Given the description of an element on the screen output the (x, y) to click on. 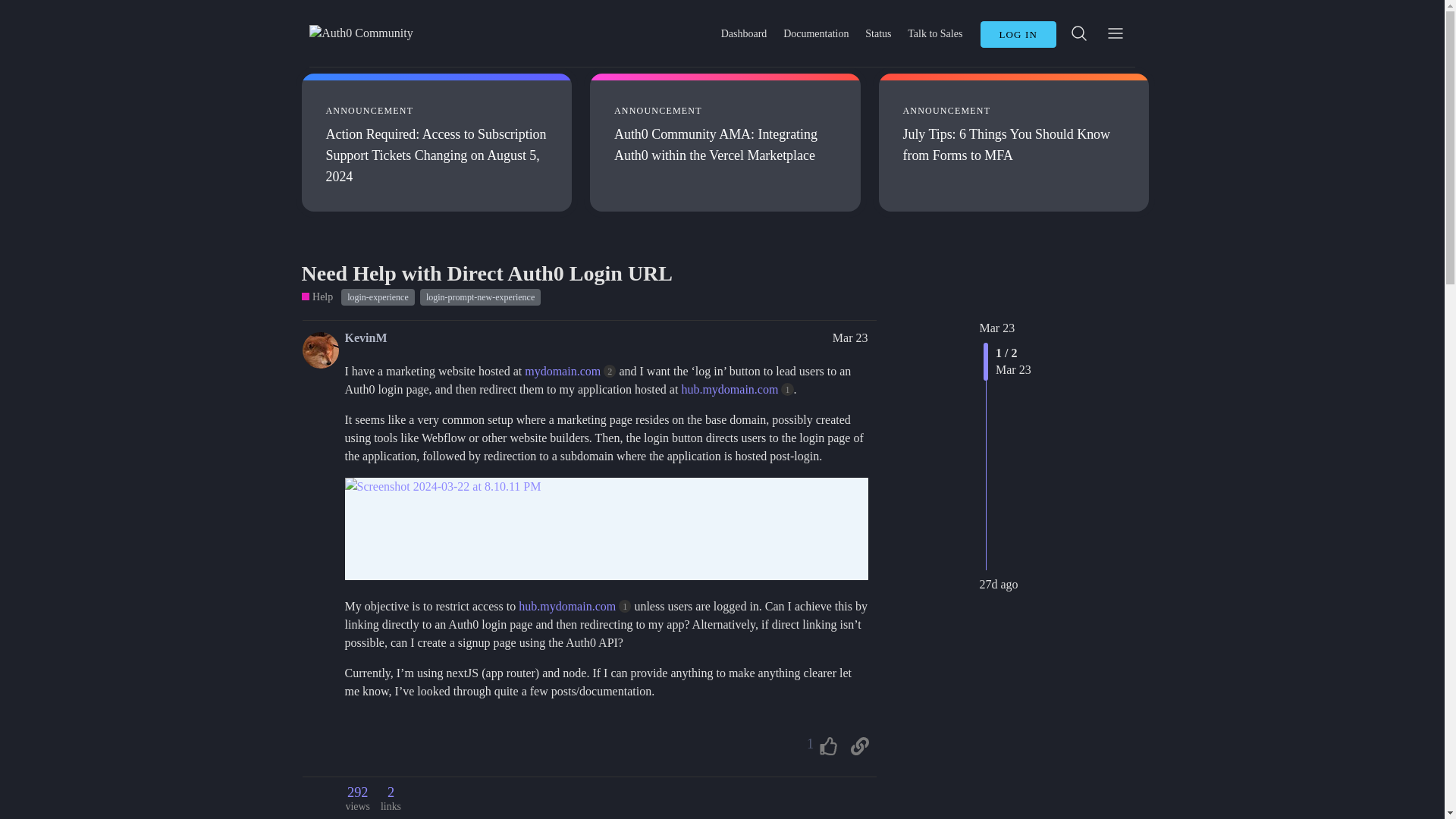
Help (317, 296)
Search (1079, 32)
hub.mydomain.com 1 (737, 389)
1 person liked this post (818, 746)
KevinM (365, 338)
Auth0 Dashboard (743, 33)
Documentation (816, 33)
share a link to this post (859, 746)
Jump to the first post (996, 327)
1 (818, 746)
mydomain.com 2 (569, 370)
login-prompt-new-experience (480, 297)
Need Help with Direct Auth0 Login URL (486, 273)
1 click (624, 605)
